Given the description of an element on the screen output the (x, y) to click on. 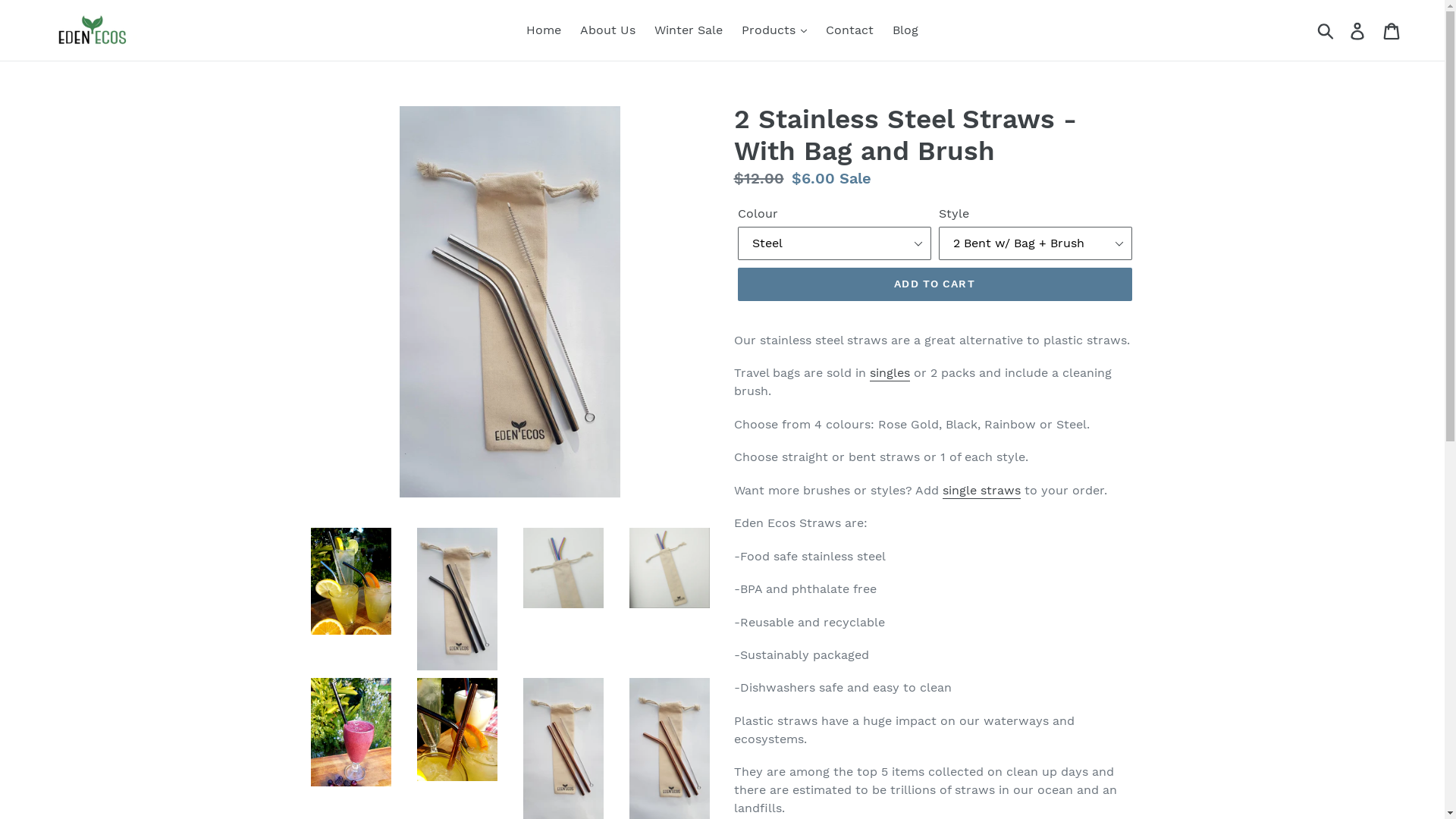
singles Element type: text (889, 373)
ADD TO CART Element type: text (934, 284)
Home Element type: text (543, 29)
Contact Element type: text (849, 29)
Log in Element type: text (1358, 30)
Cart Element type: text (1392, 30)
Submit Element type: text (1326, 30)
Winter Sale Element type: text (688, 29)
single straws Element type: text (980, 490)
Blog Element type: text (904, 29)
About Us Element type: text (607, 29)
